Given the description of an element on the screen output the (x, y) to click on. 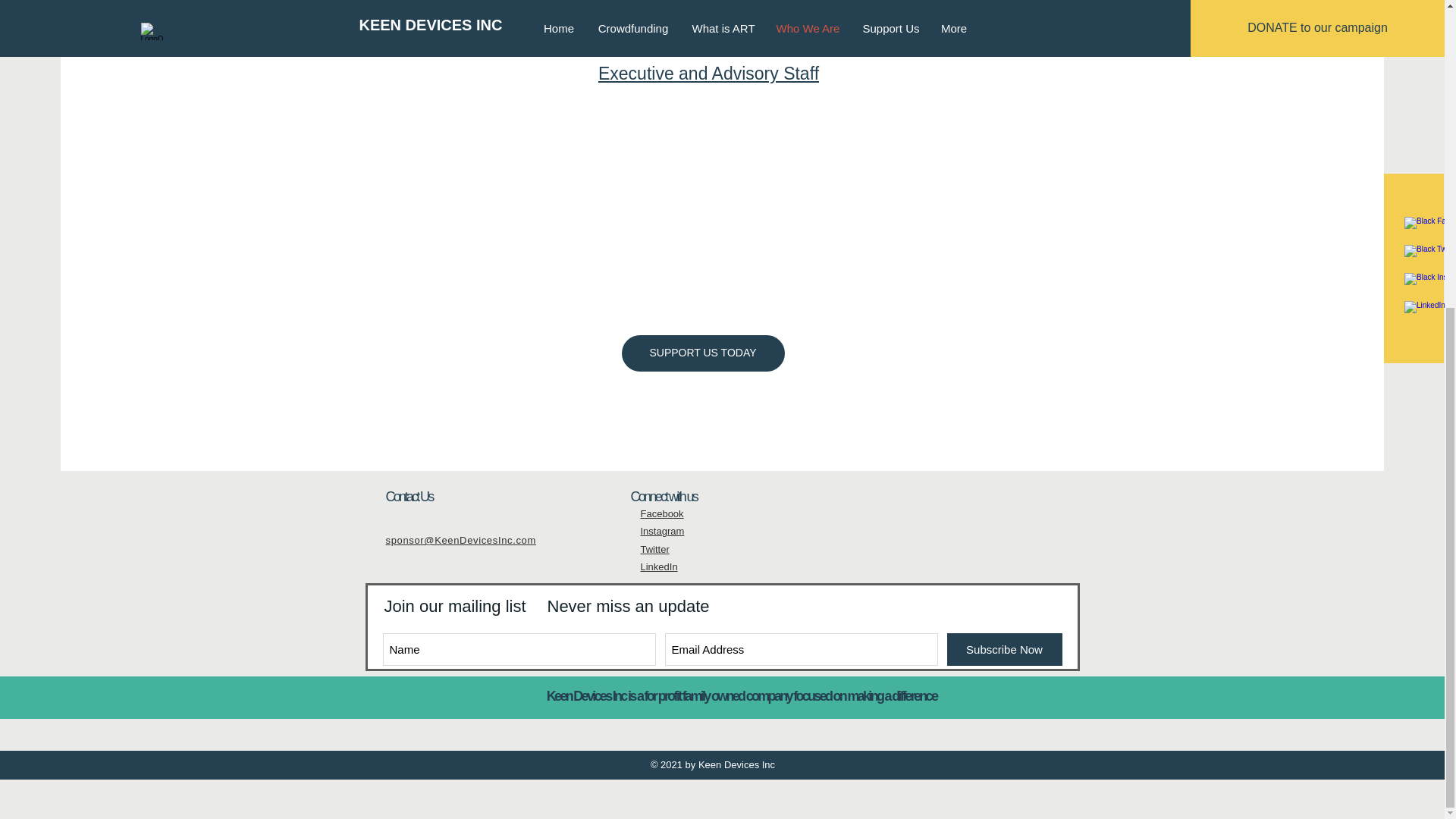
Facebook (661, 513)
Subscribe Now (1003, 649)
SUPPORT US TODAY (702, 352)
LinkedIn (658, 566)
Executive and Advisory Staff (708, 73)
Instagram (662, 531)
Twitter (654, 549)
